Given the description of an element on the screen output the (x, y) to click on. 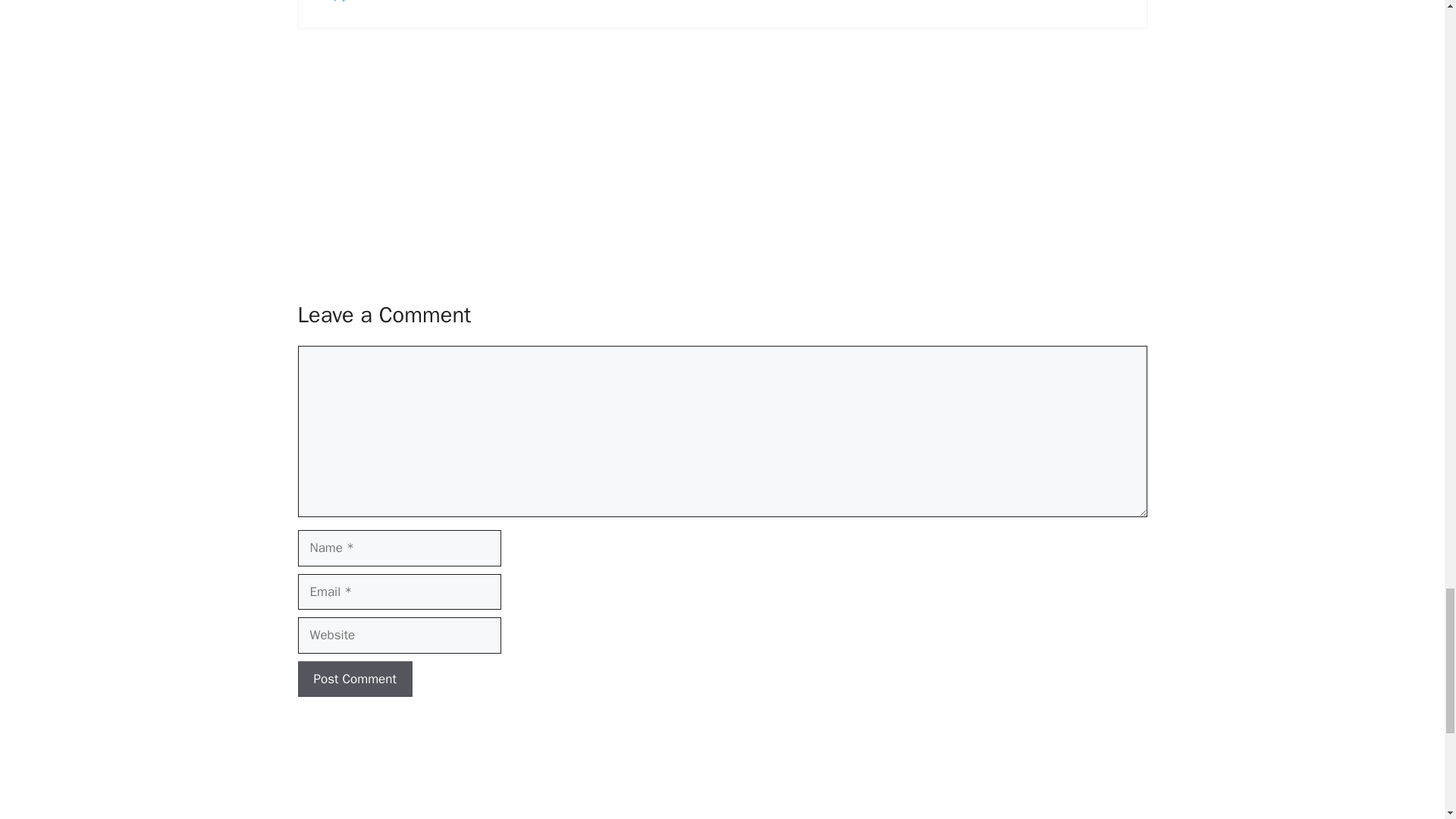
Post Comment (354, 678)
Reply (334, 1)
Post Comment (354, 678)
